Given the description of an element on the screen output the (x, y) to click on. 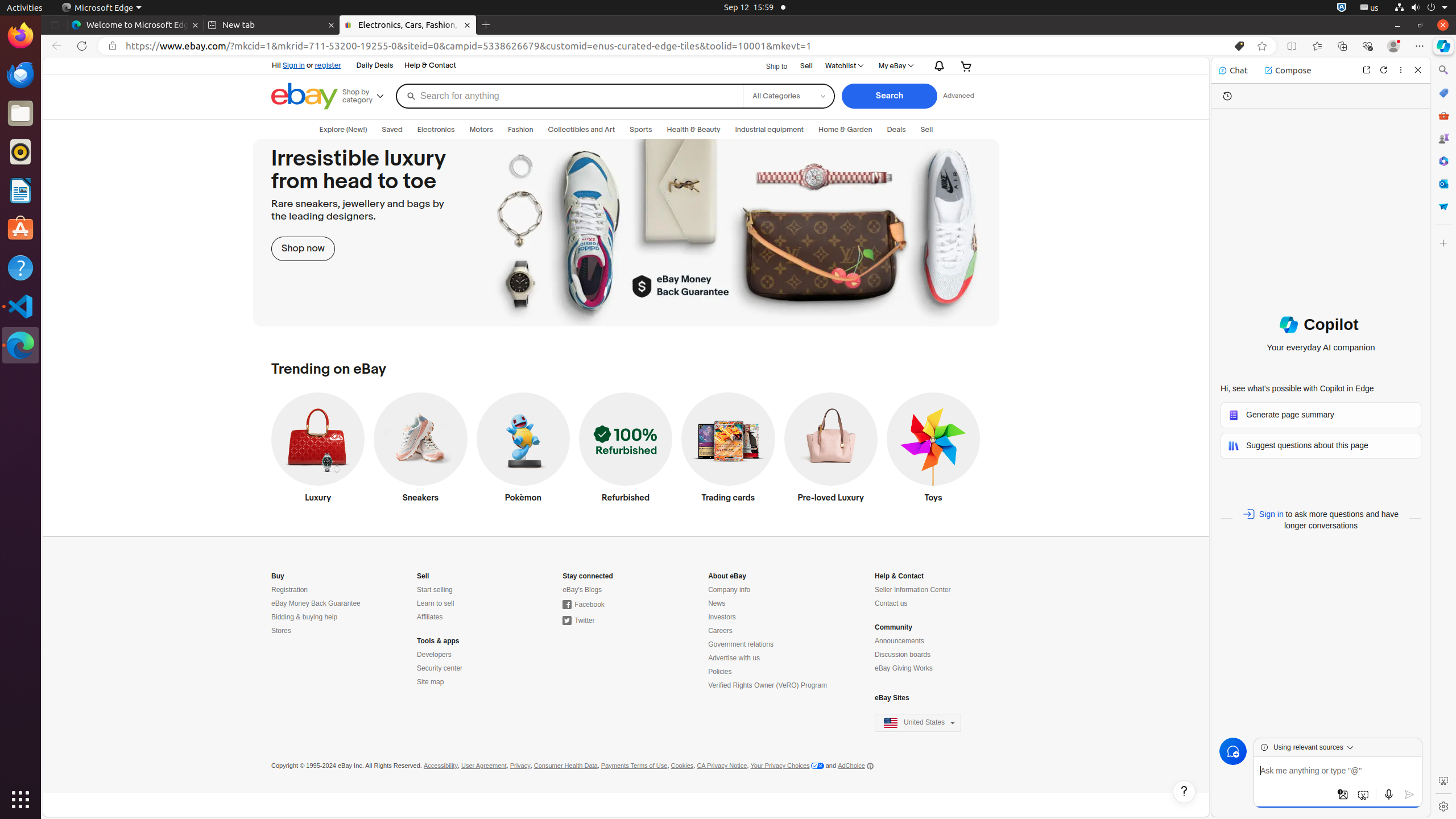
Outlook Element type: push-button (1443, 183)
Advanced Search Element type: link (957, 95)
Registration Element type: link (289, 589)
Policies Element type: link (719, 671)
Your Privacy Choices Element type: link (787, 765)
